Given the description of an element on the screen output the (x, y) to click on. 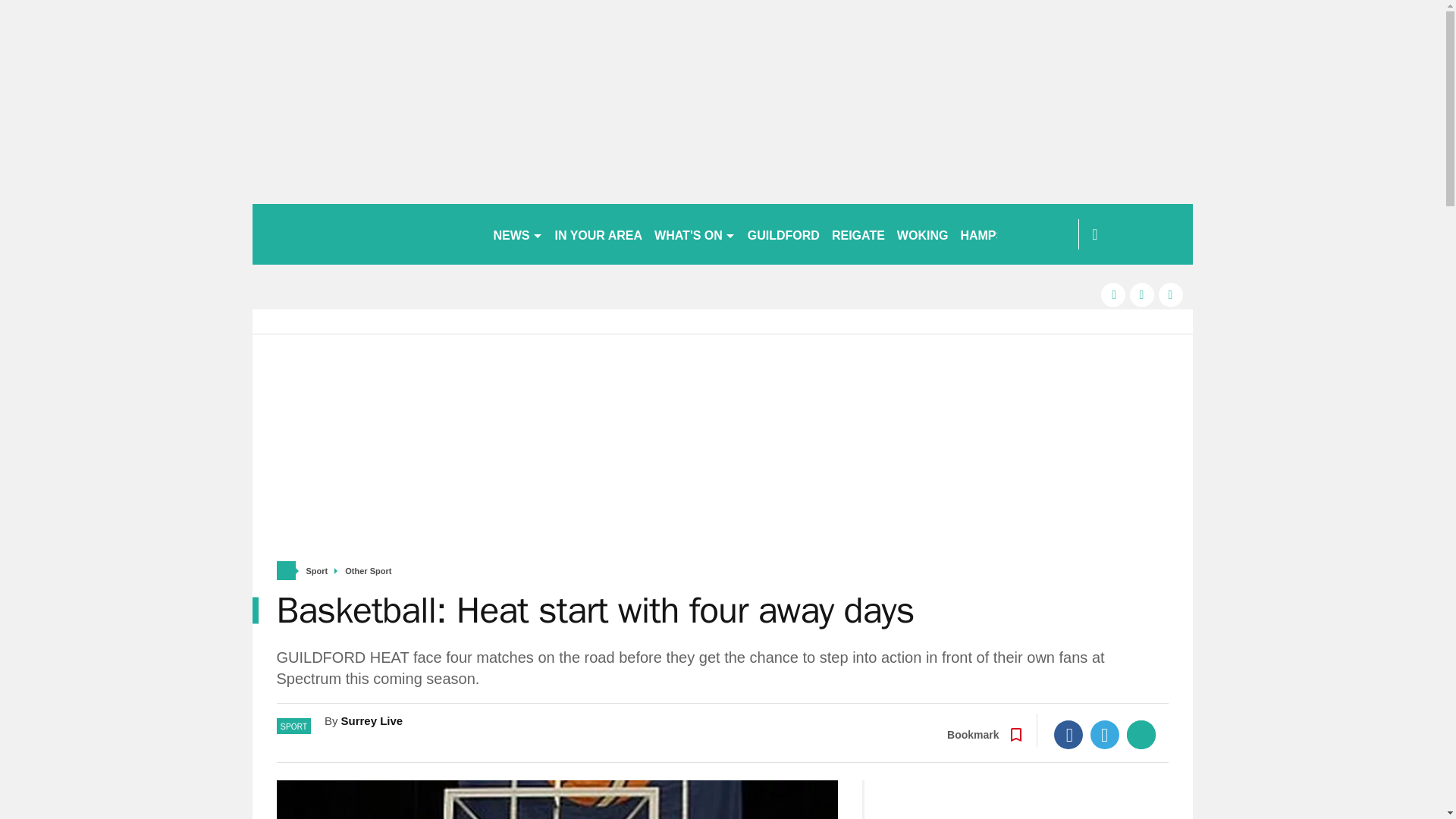
instagram (1170, 294)
REIGATE (858, 233)
facebook (1112, 294)
HAMPSHIRE (996, 233)
WHAT'S ON (694, 233)
getsurrey (365, 233)
IN YOUR AREA (598, 233)
Twitter (1104, 734)
GUILDFORD (783, 233)
twitter (1141, 294)
